Given the description of an element on the screen output the (x, y) to click on. 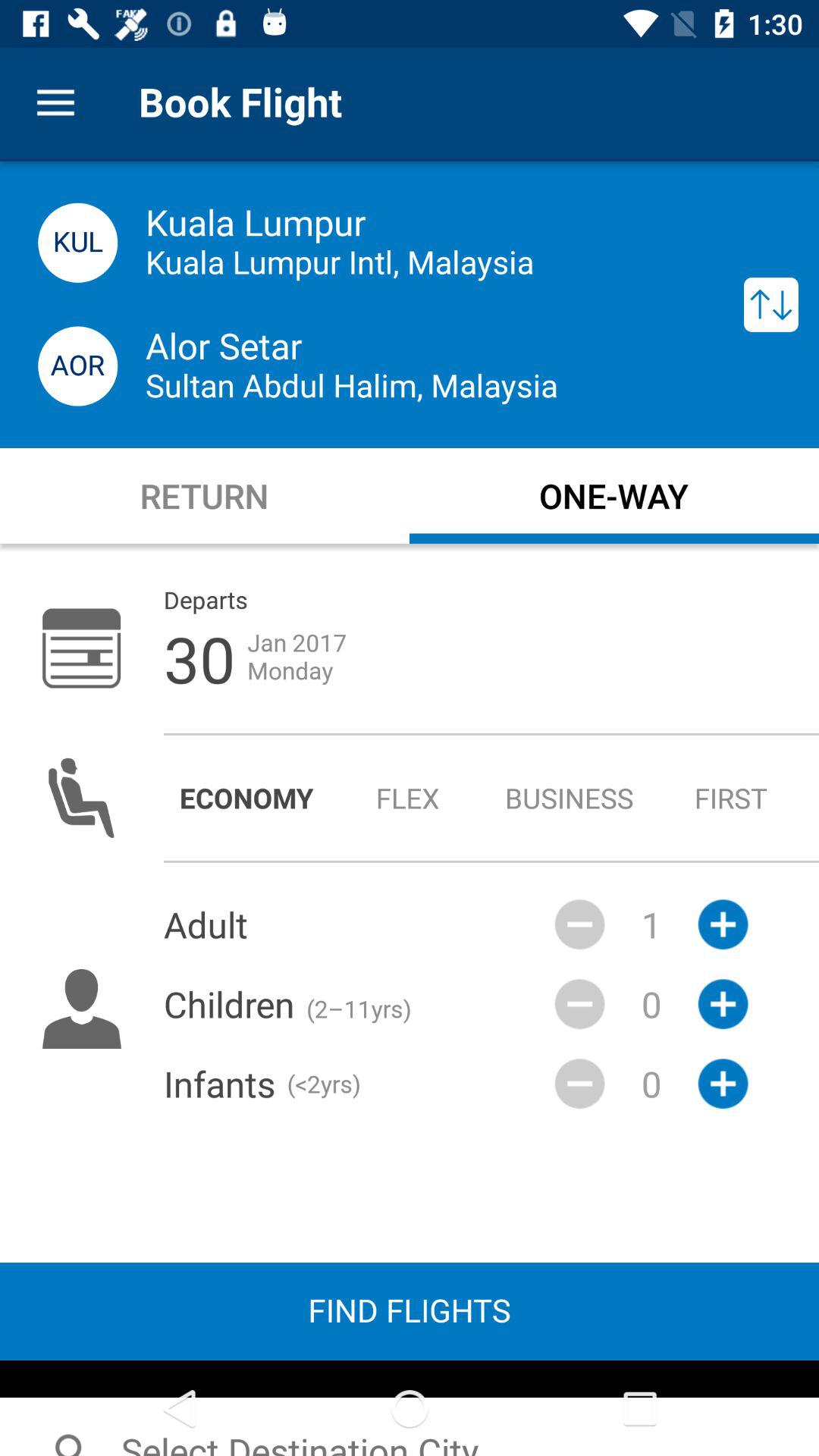
select icon next to the economy radio button (407, 797)
